Given the description of an element on the screen output the (x, y) to click on. 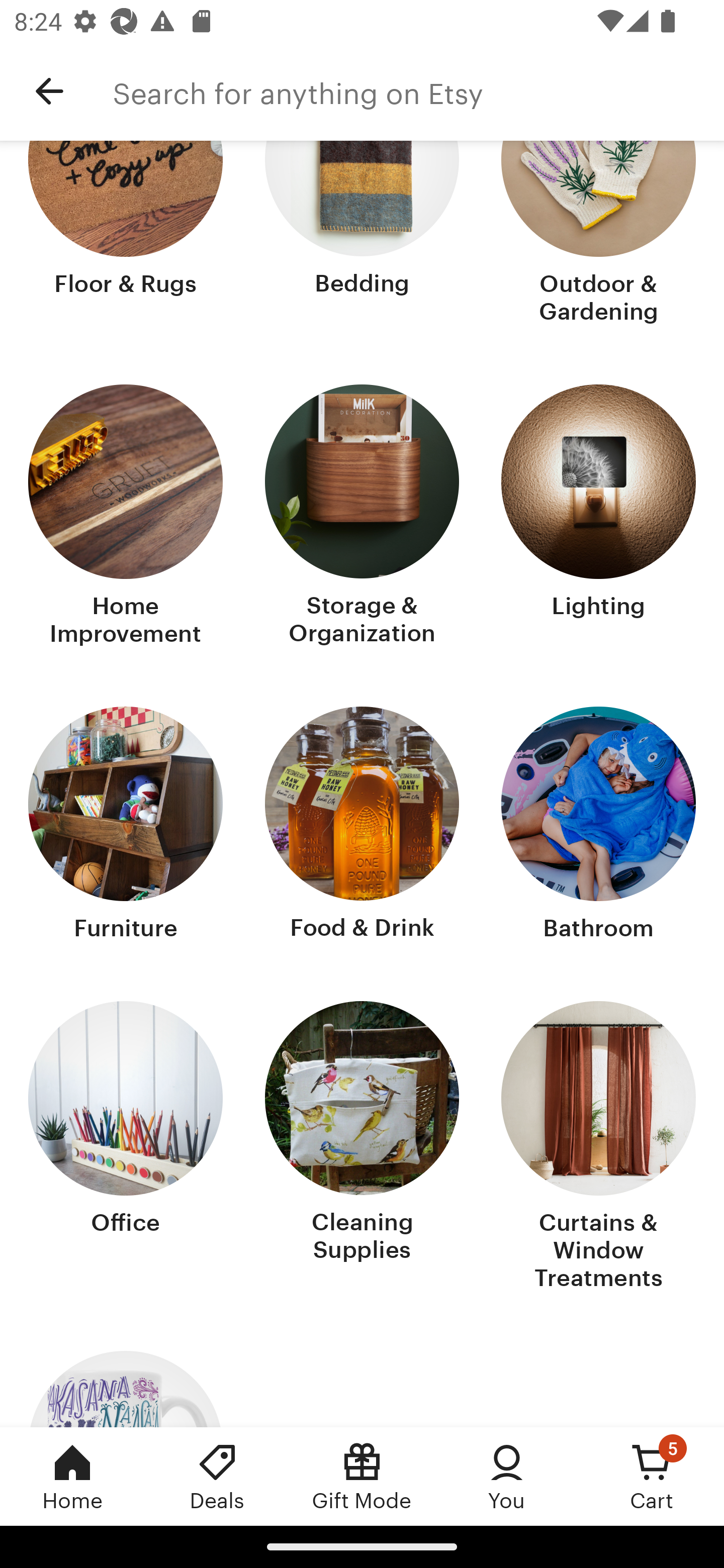
Navigate up (49, 91)
Search for anything on Etsy (418, 91)
Floor & Rugs (125, 234)
Bedding (361, 234)
Outdoor & Gardening (598, 234)
Home Improvement (125, 517)
Storage & Organization (361, 517)
Lighting (598, 517)
Furniture (125, 826)
Food & Drink (361, 826)
Bathroom (598, 826)
Office (125, 1147)
Cleaning Supplies (361, 1147)
Curtains & Window Treatments (598, 1147)
Deals (216, 1475)
Gift Mode (361, 1475)
You (506, 1475)
Cart, 5 new notifications Cart (651, 1475)
